Given the description of an element on the screen output the (x, y) to click on. 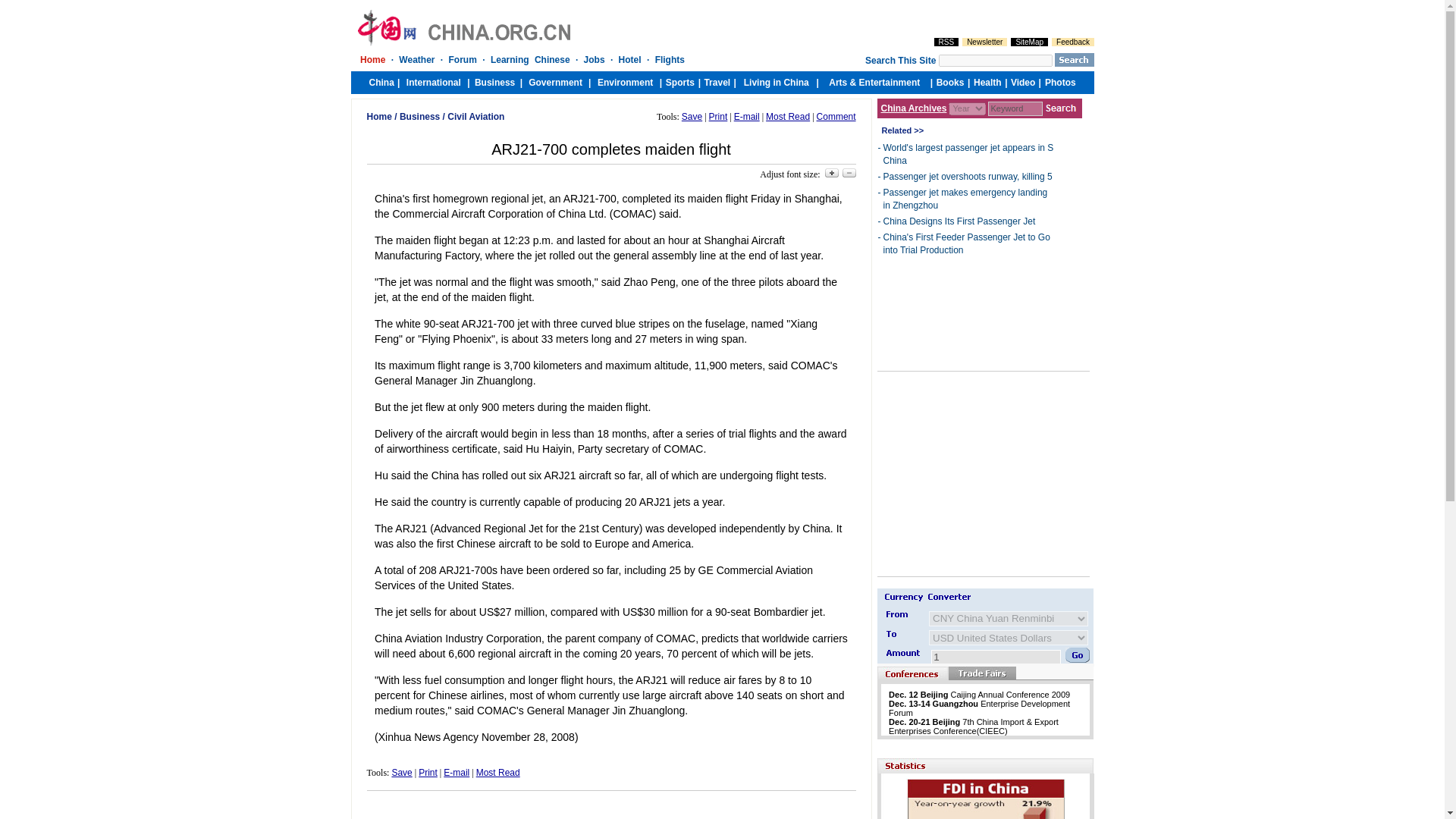
Home (378, 116)
China Designs Its First Passenger Jet (958, 221)
E-mail (746, 116)
Civil Aviation (474, 116)
Keyword (1015, 108)
Advertisement (972, 473)
Save (691, 116)
Passenger jet overshoots runway, killing 5 (966, 176)
E-mail (456, 772)
Print (718, 116)
Business (418, 116)
Comment (836, 116)
Advertisement (611, 808)
Most Read (497, 772)
Most Read (787, 116)
